Given the description of an element on the screen output the (x, y) to click on. 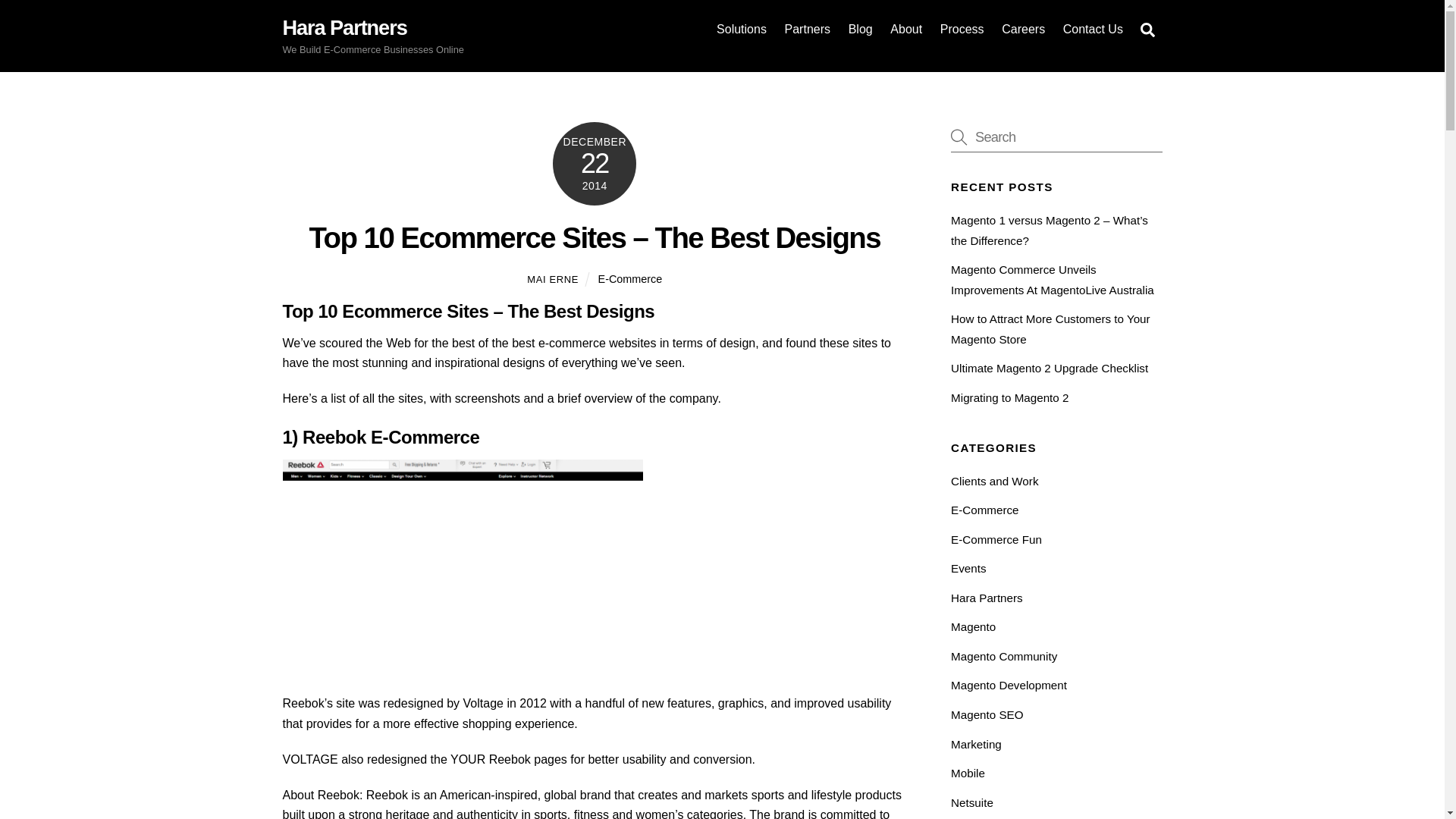
Search (1055, 136)
Solutions (741, 29)
Search (1146, 29)
Contact Us (1092, 29)
MAI ERNE (552, 278)
About (906, 29)
Hara Partners (344, 27)
Process (962, 29)
Careers (1023, 29)
